Given the description of an element on the screen output the (x, y) to click on. 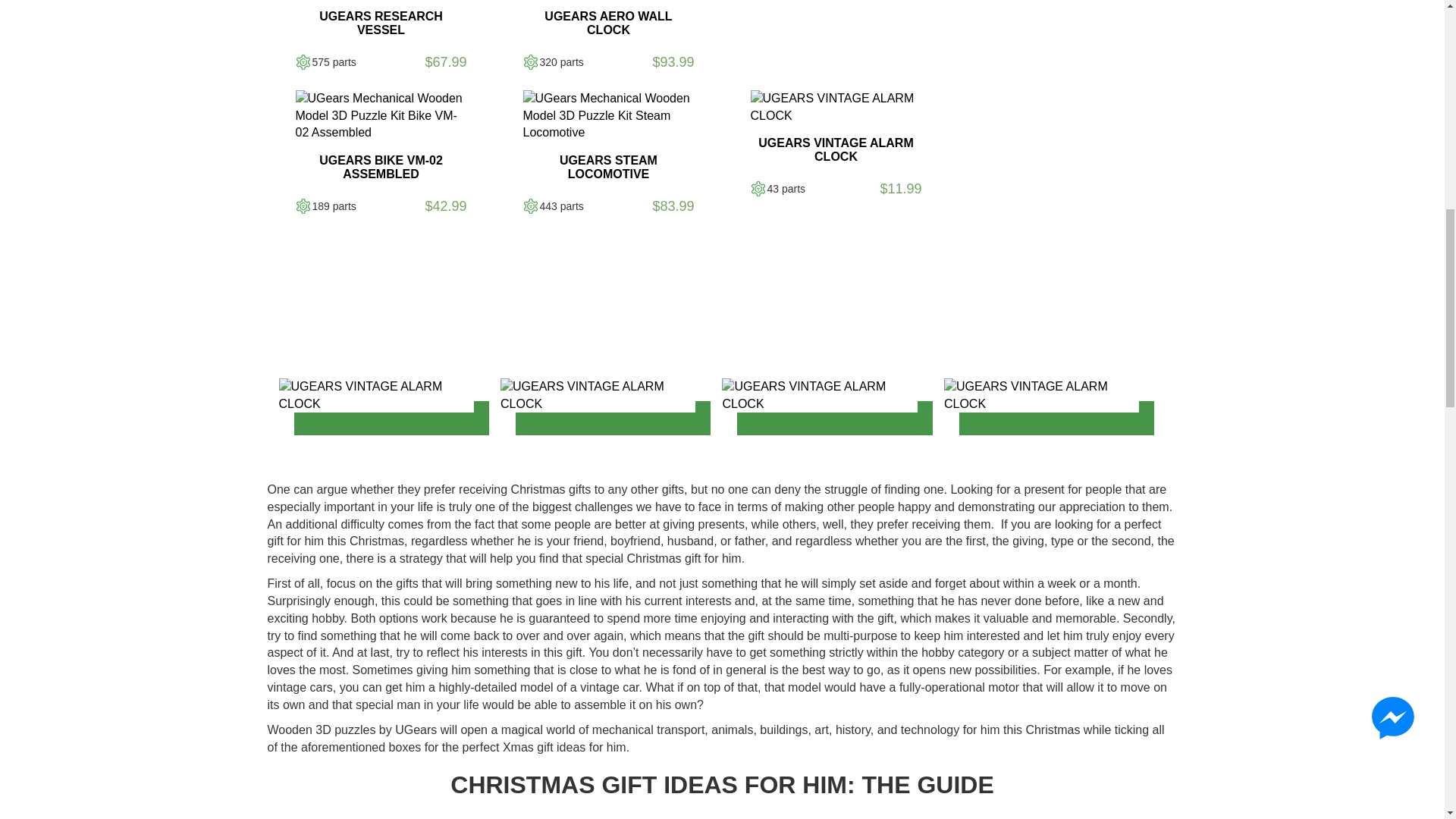
UGEARS VINTAGE ALARM CLOCK (376, 395)
UGEARS VINTAGE ALARM CLOCK (836, 107)
UGEARS VINTAGE ALARM CLOCK (597, 395)
UGEARS VINTAGE ALARM CLOCK (819, 395)
UGEARS VINTAGE ALARM CLOCK (1040, 395)
